Given the description of an element on the screen output the (x, y) to click on. 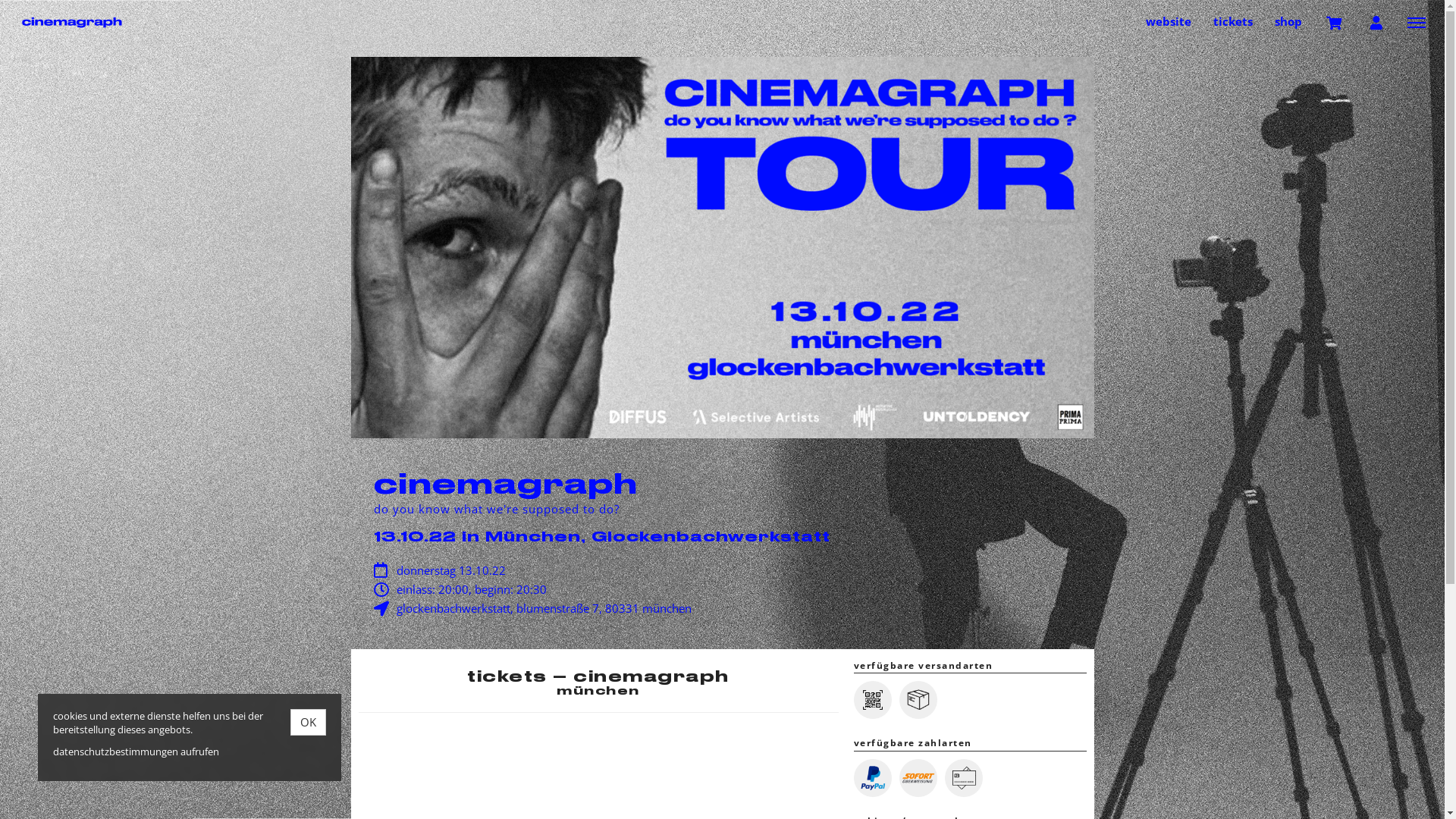
Print@home/Mobile-Ticket Element type: hover (872, 699)
Paketversand Element type: hover (918, 699)
Kreditkarte Element type: hover (963, 778)
  Element type: text (1334, 21)
shop Element type: text (1288, 20)
Paketversand Element type: hover (918, 699)
datenschutzbestimmungen aufrufen Element type: text (136, 751)
PayPal Element type: hover (872, 778)
Print@home/Mobile-Ticket Element type: hover (872, 699)
PayPal Element type: hover (872, 778)
tickets Element type: text (1232, 20)
Kreditkarte Element type: hover (963, 778)
OK Element type: text (308, 722)
cinemagraph Element type: text (83, 22)
Mein Kundenkonto  Element type: hover (1376, 21)
Mein Warenkorb  Element type: hover (1334, 21)
website Element type: text (1168, 20)
